Given the description of an element on the screen output the (x, y) to click on. 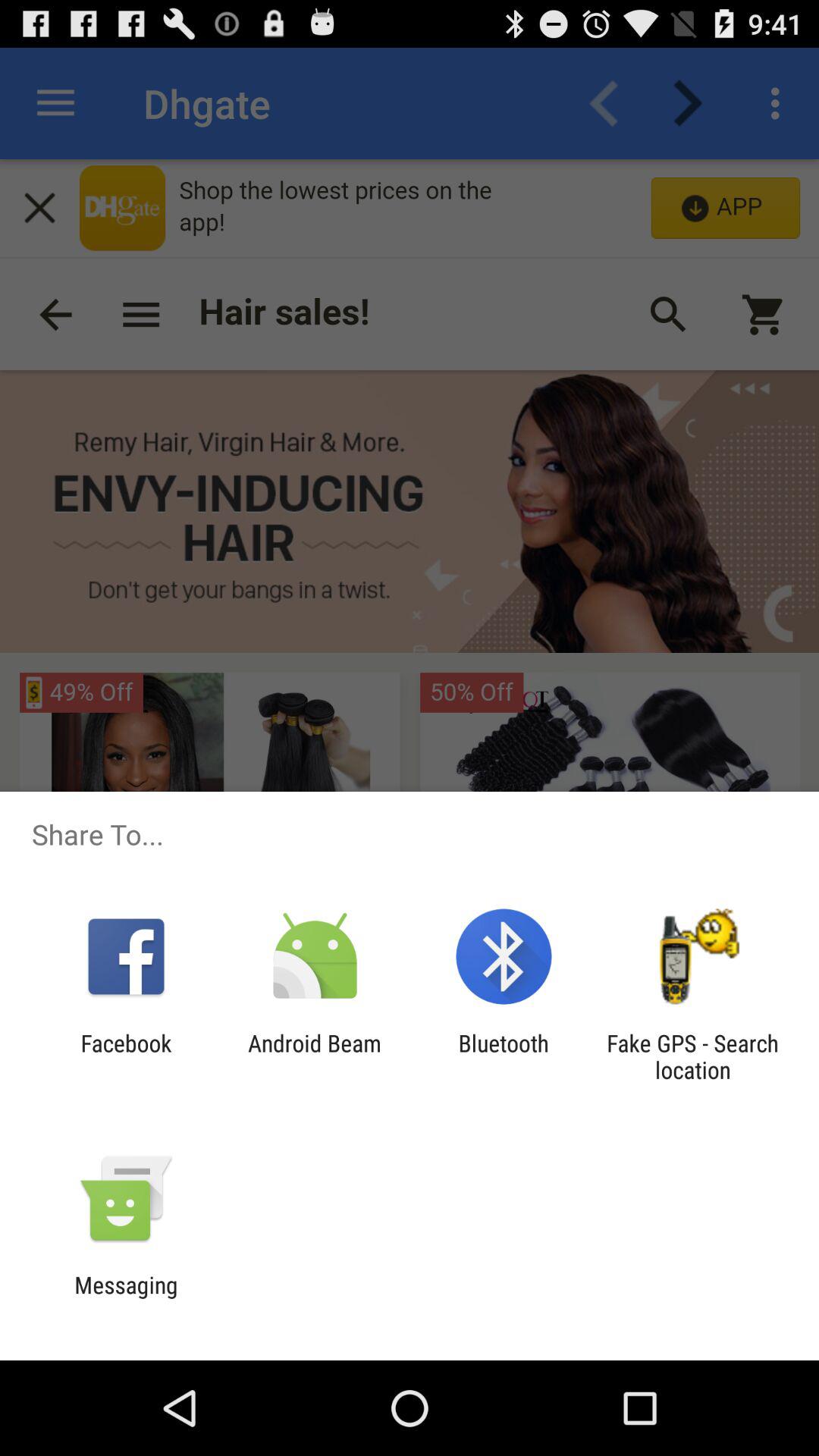
launch app to the right of android beam icon (503, 1056)
